Given the description of an element on the screen output the (x, y) to click on. 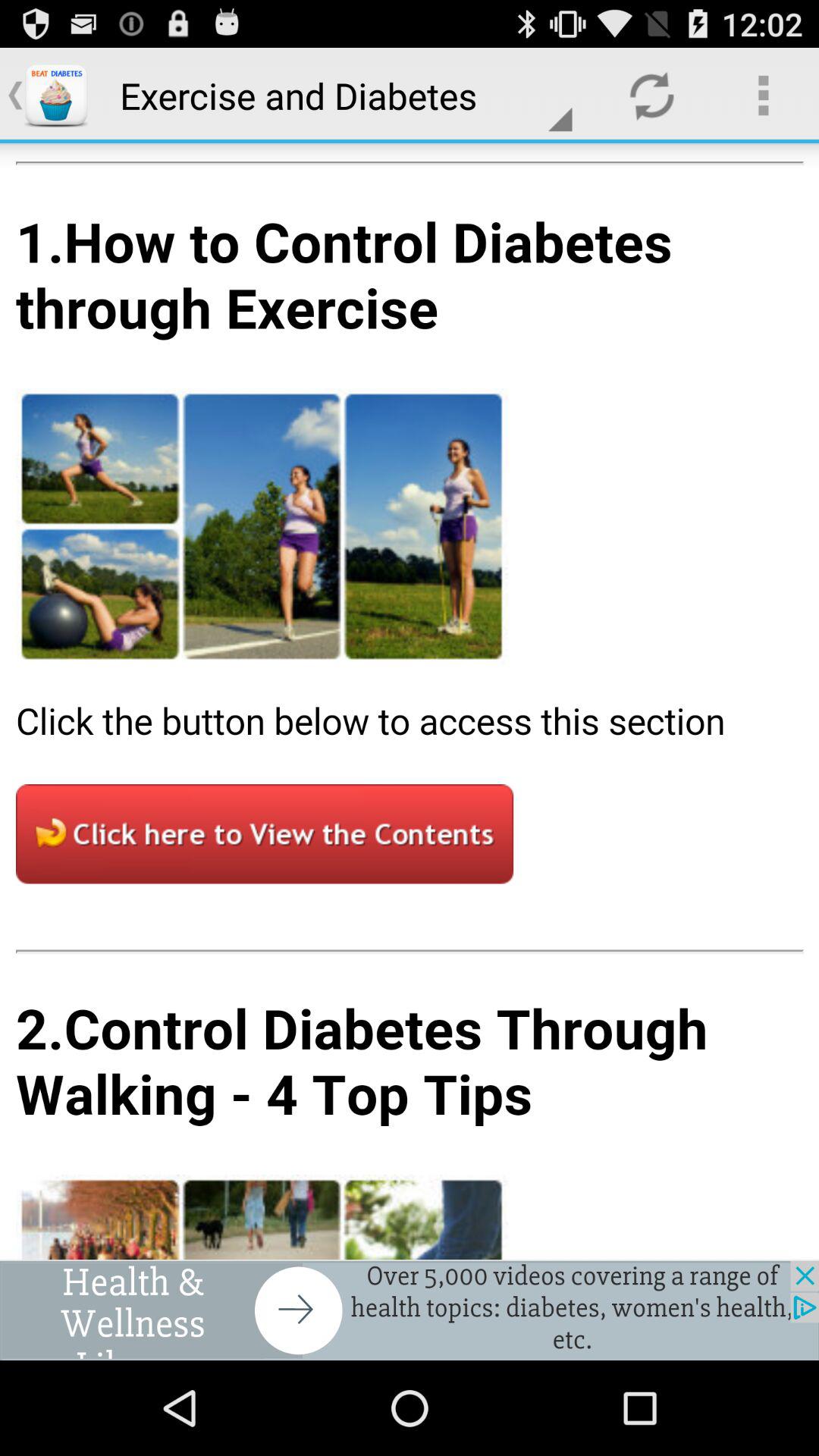
advertisement page (409, 1310)
